Given the description of an element on the screen output the (x, y) to click on. 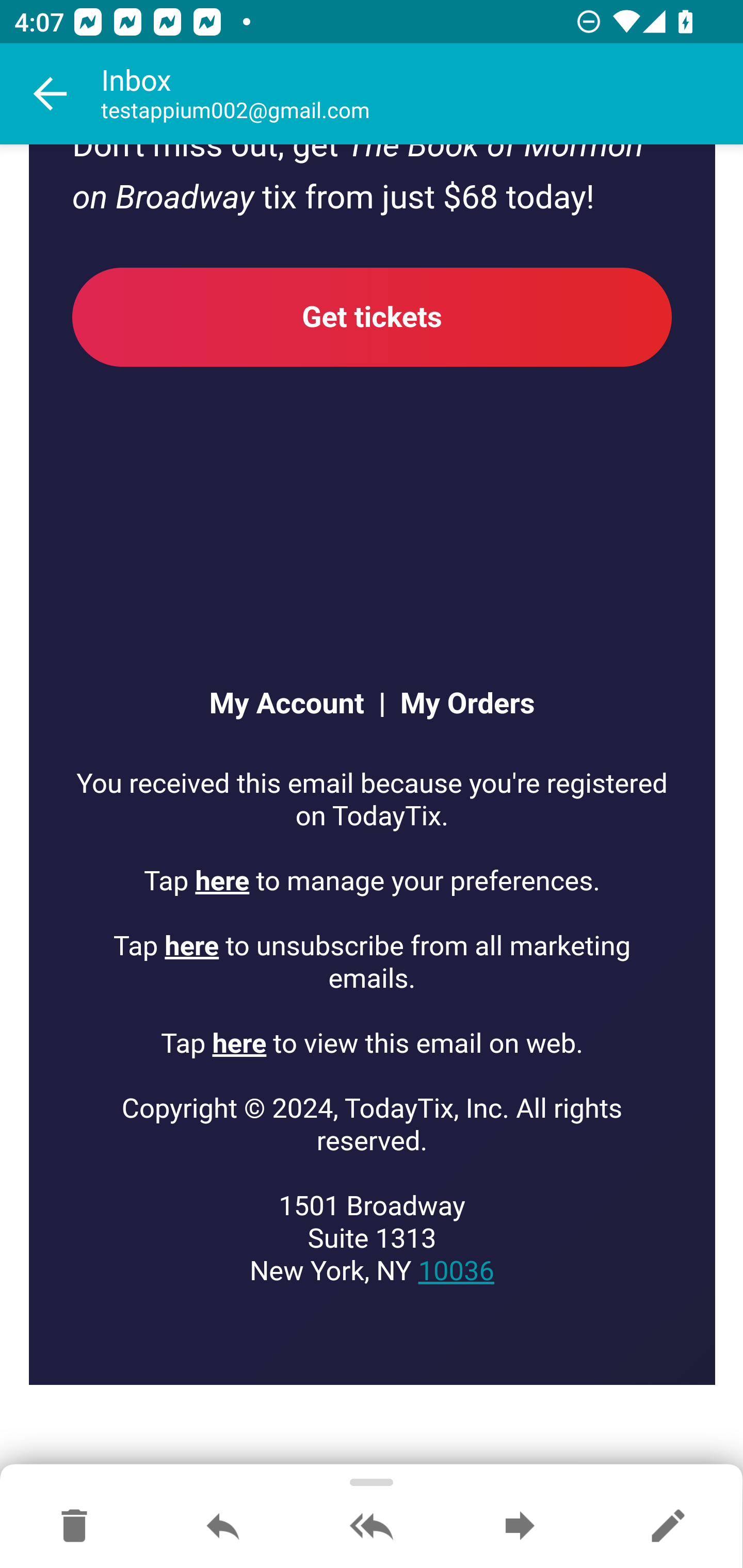
Navigate up (50, 93)
Inbox testappium002@gmail.com (422, 93)
Get tickets (372, 317)
My Account  | (296, 704)
  My Orders (460, 704)
here (222, 880)
here (192, 946)
here (239, 1044)
10036 (455, 1271)
Move to Deleted (74, 1527)
Reply (222, 1527)
Reply all (371, 1527)
Forward (519, 1527)
Reply as new (667, 1527)
